Given the description of an element on the screen output the (x, y) to click on. 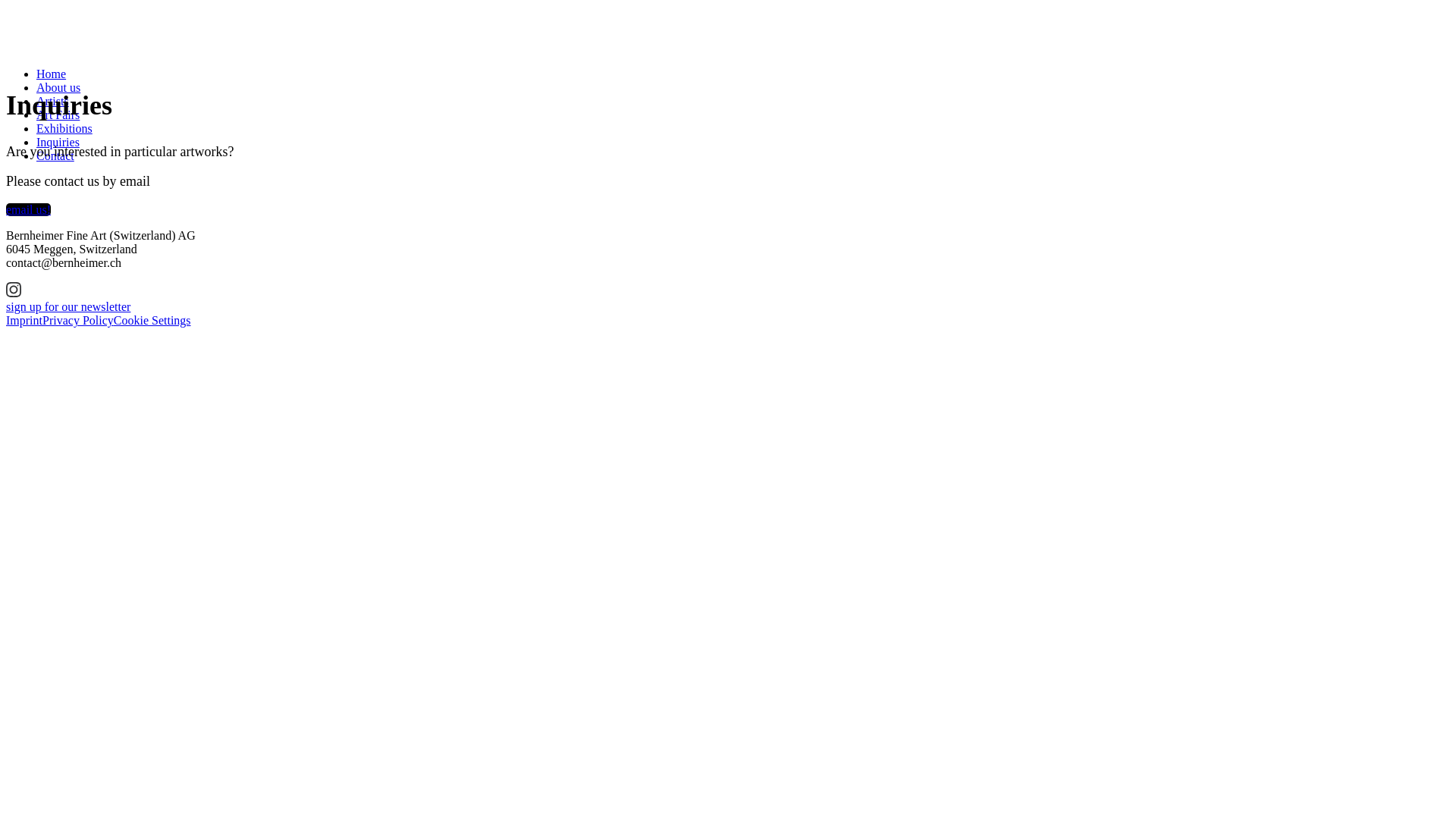
Art Fairs Element type: text (57, 114)
Home Element type: text (50, 73)
email us! Element type: text (28, 209)
Imprint Element type: text (24, 319)
Cookie Settings Element type: text (152, 319)
Artists Element type: text (52, 100)
Privacy Policy Element type: text (77, 319)
Contact Element type: text (55, 155)
Exhibitions Element type: text (64, 128)
Inquiries Element type: text (57, 141)
sign up for our newsletter Element type: text (68, 306)
About us Element type: text (58, 87)
